Given the description of an element on the screen output the (x, y) to click on. 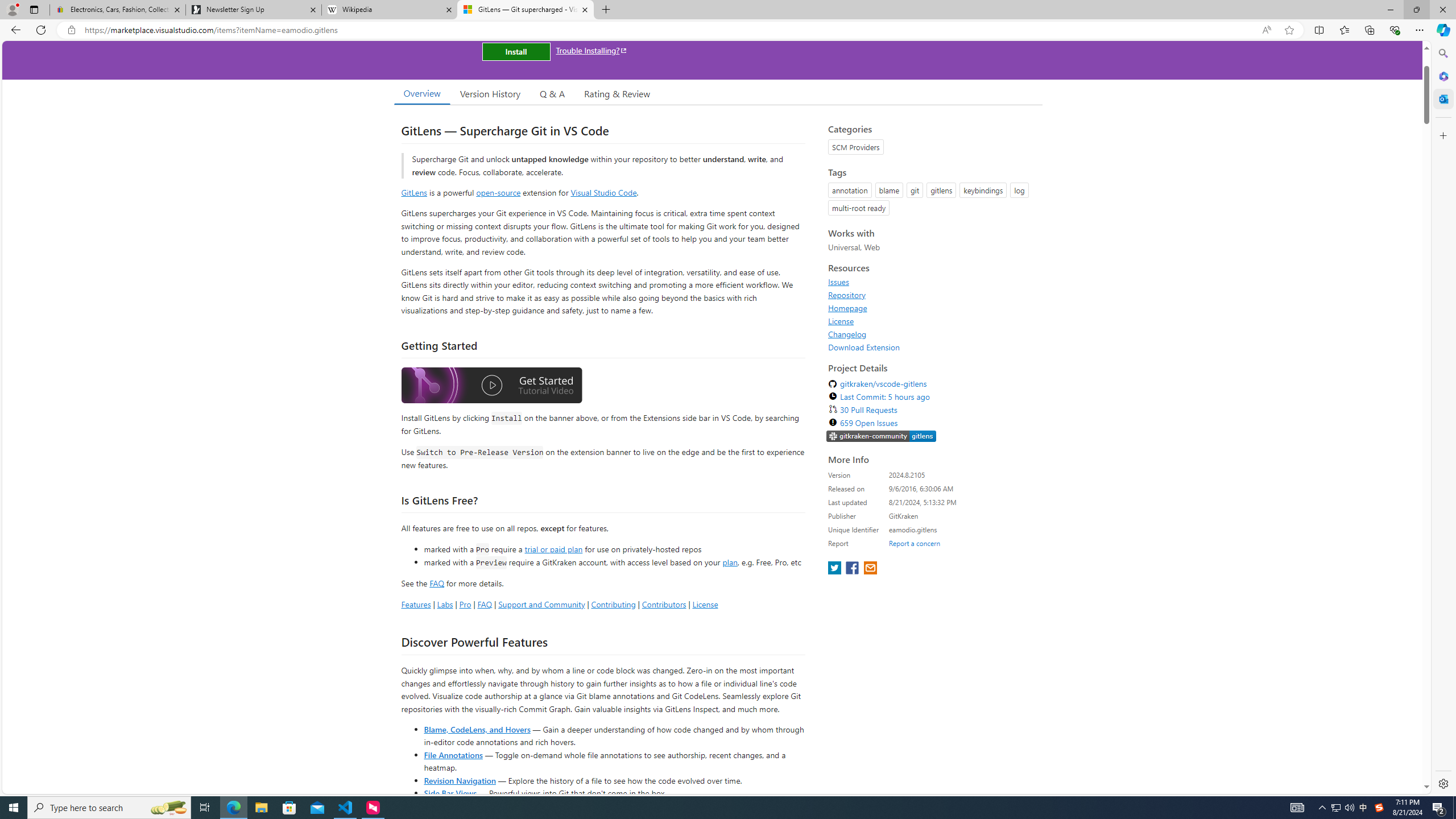
Repository (847, 294)
Labs (444, 603)
Version History (489, 92)
Revision Navigation (459, 780)
